Given the description of an element on the screen output the (x, y) to click on. 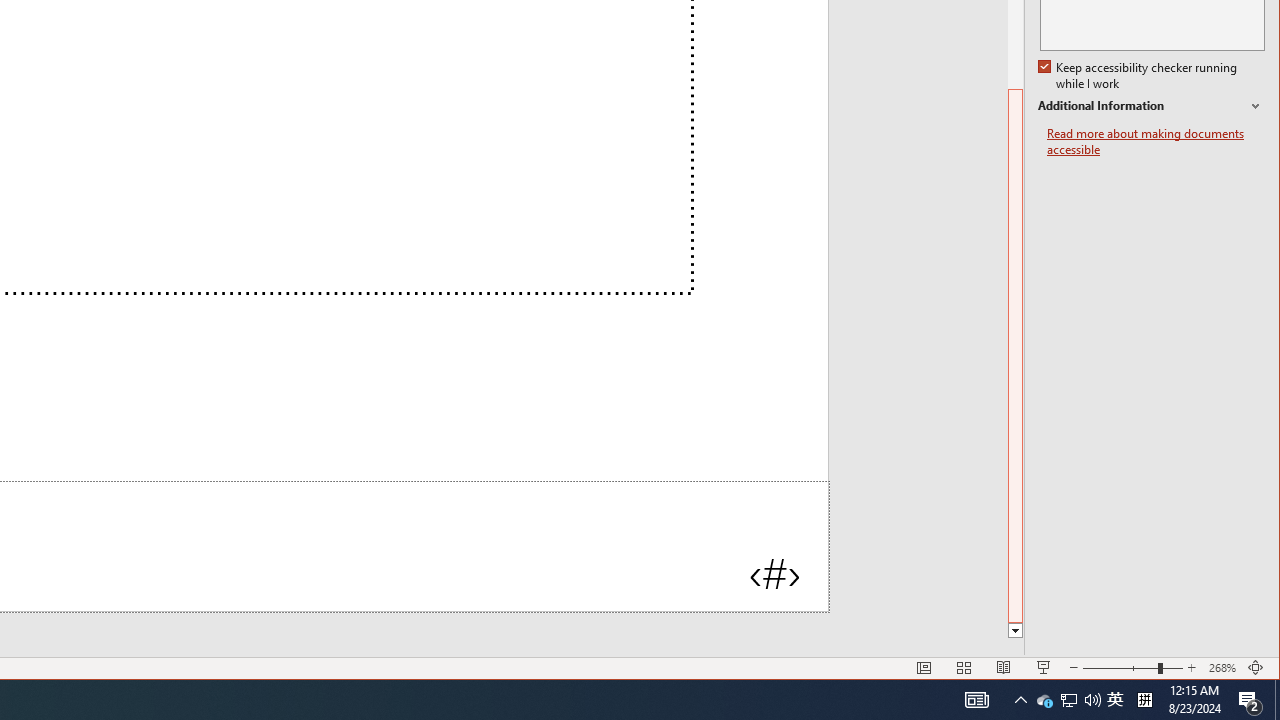
Zoom In (1191, 668)
Slide Sorter (1115, 699)
Tray Input Indicator - Chinese (Simplified, China) (964, 668)
Notification Chevron (1144, 699)
Reading View (1044, 699)
Zoom to Fit  (1020, 699)
Additional Information (1004, 668)
Line down (1256, 668)
Zoom 268% (1151, 106)
Read more about making documents accessible (1015, 631)
Normal (1069, 699)
Keep accessibility checker running while I work (1222, 668)
